Given the description of an element on the screen output the (x, y) to click on. 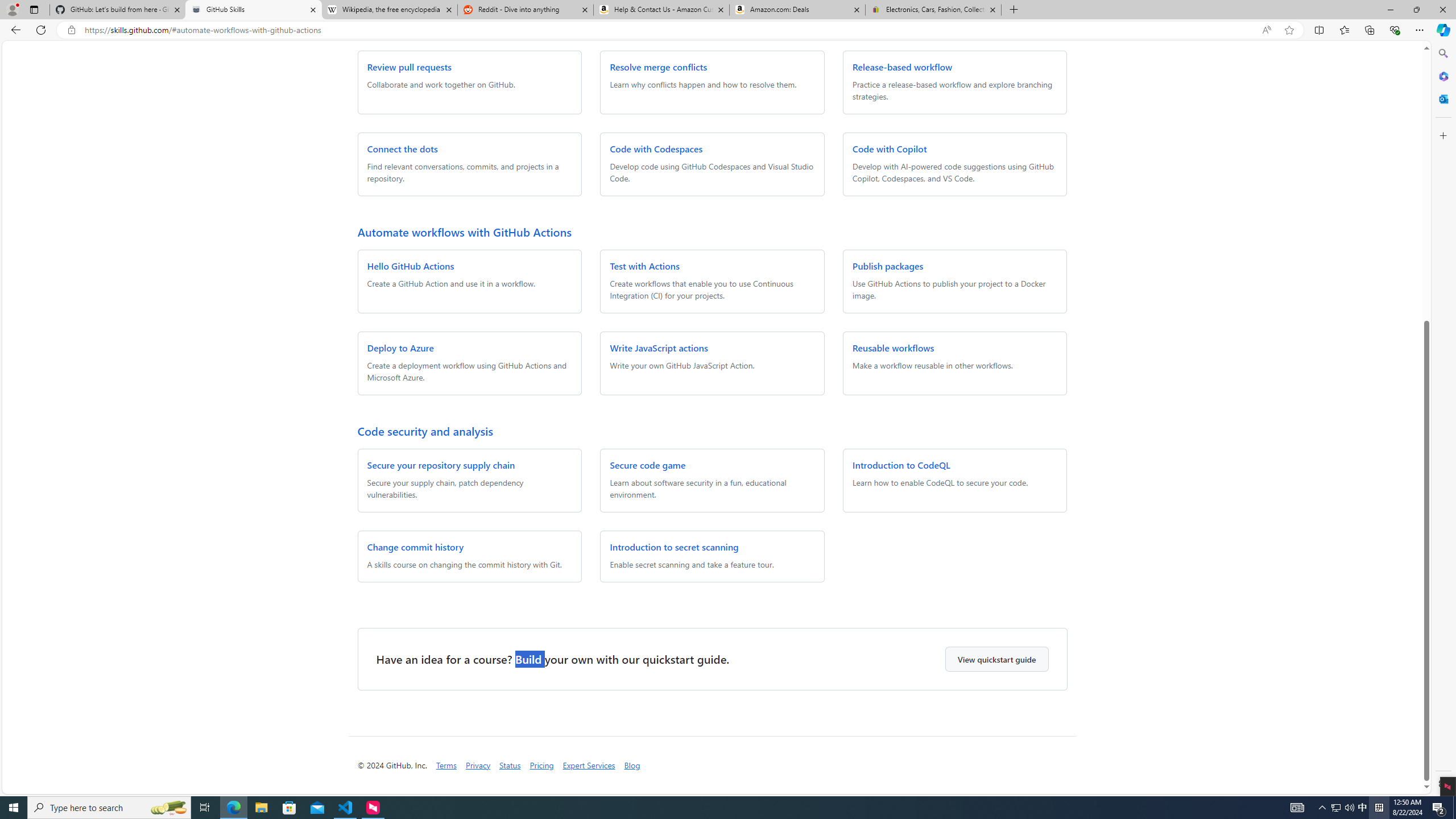
Pricing (541, 765)
Code with Codespaces (656, 148)
Write JavaScript actions (658, 347)
Blog (632, 765)
Automate workflows with GitHub Actions (464, 231)
Review pull requests (408, 66)
